Given the description of an element on the screen output the (x, y) to click on. 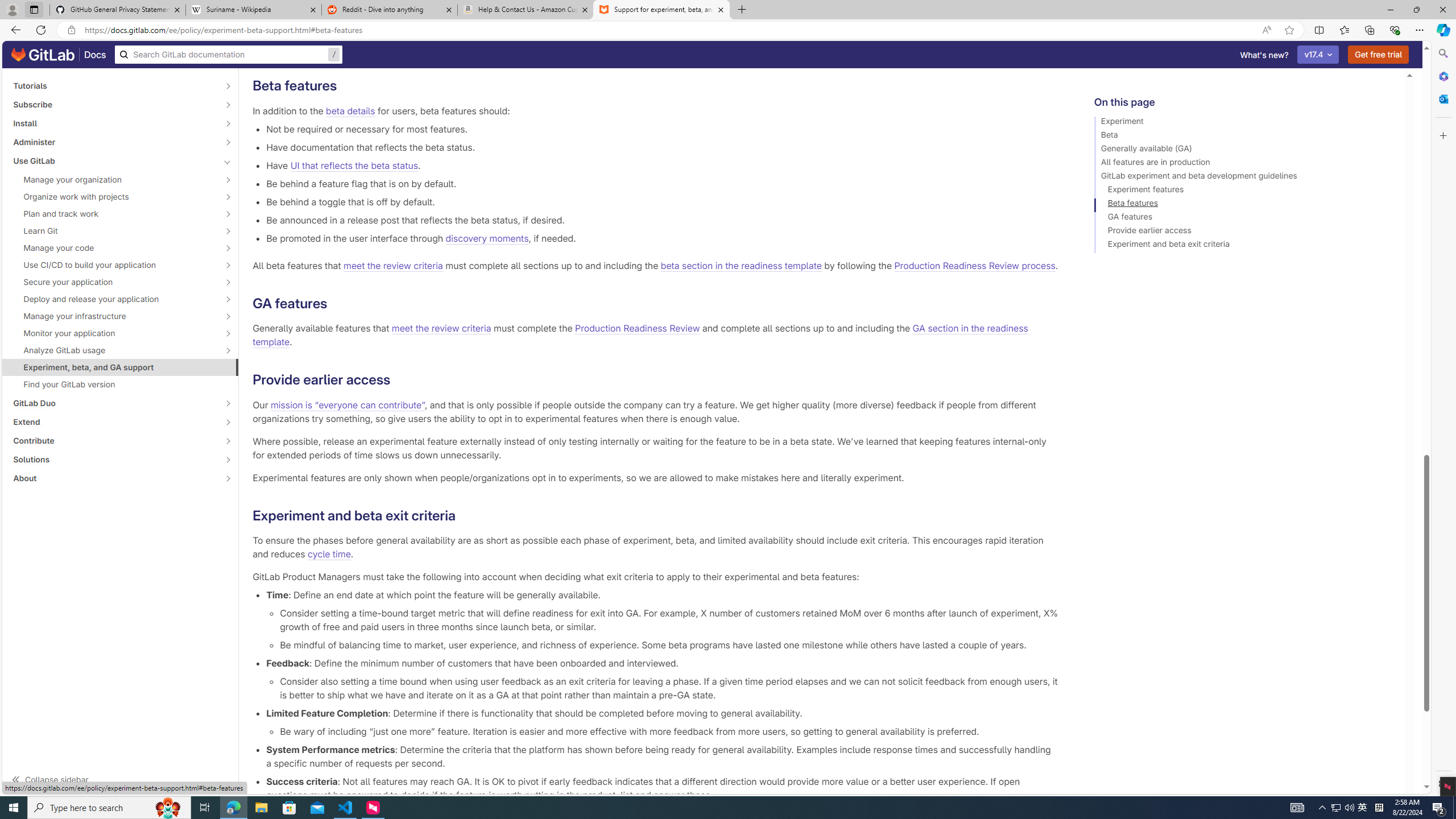
Experiment (1244, 123)
Help & Contact Us - Amazon Customer Service - Sleeping (525, 9)
Production Readiness Review process (974, 265)
What's new? (1263, 54)
Collapse sidebar (120, 779)
GitLab Duo (113, 402)
Permalink (464, 515)
Learn Git (113, 230)
Generally available (GA) (1244, 150)
Plan and track work (113, 213)
Use CI/CD to build your application (113, 264)
Manage your code (113, 247)
Be behind a feature flag that is on by default. (662, 183)
